Given the description of an element on the screen output the (x, y) to click on. 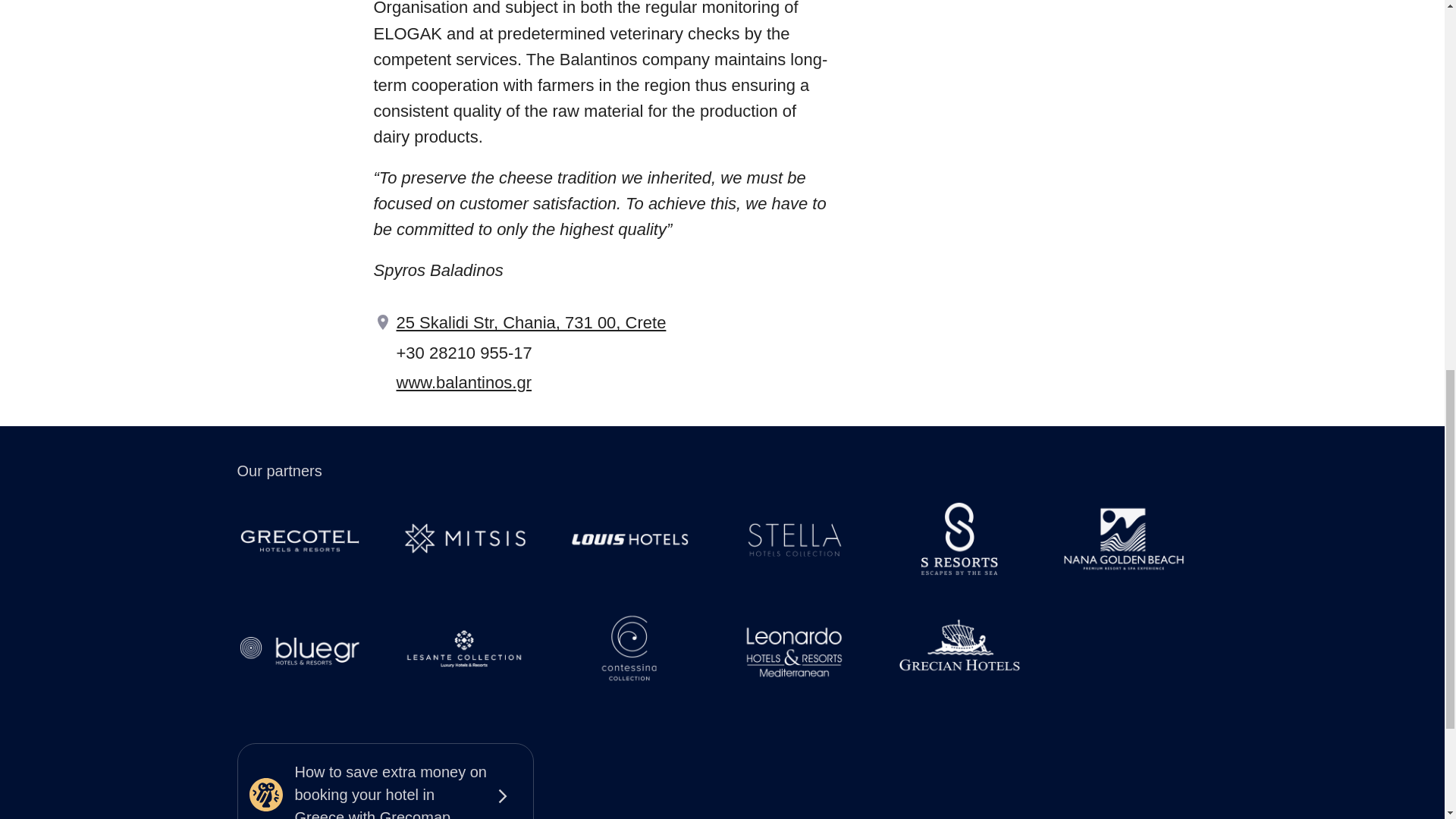
www.balantinos.gr (463, 382)
